Given the description of an element on the screen output the (x, y) to click on. 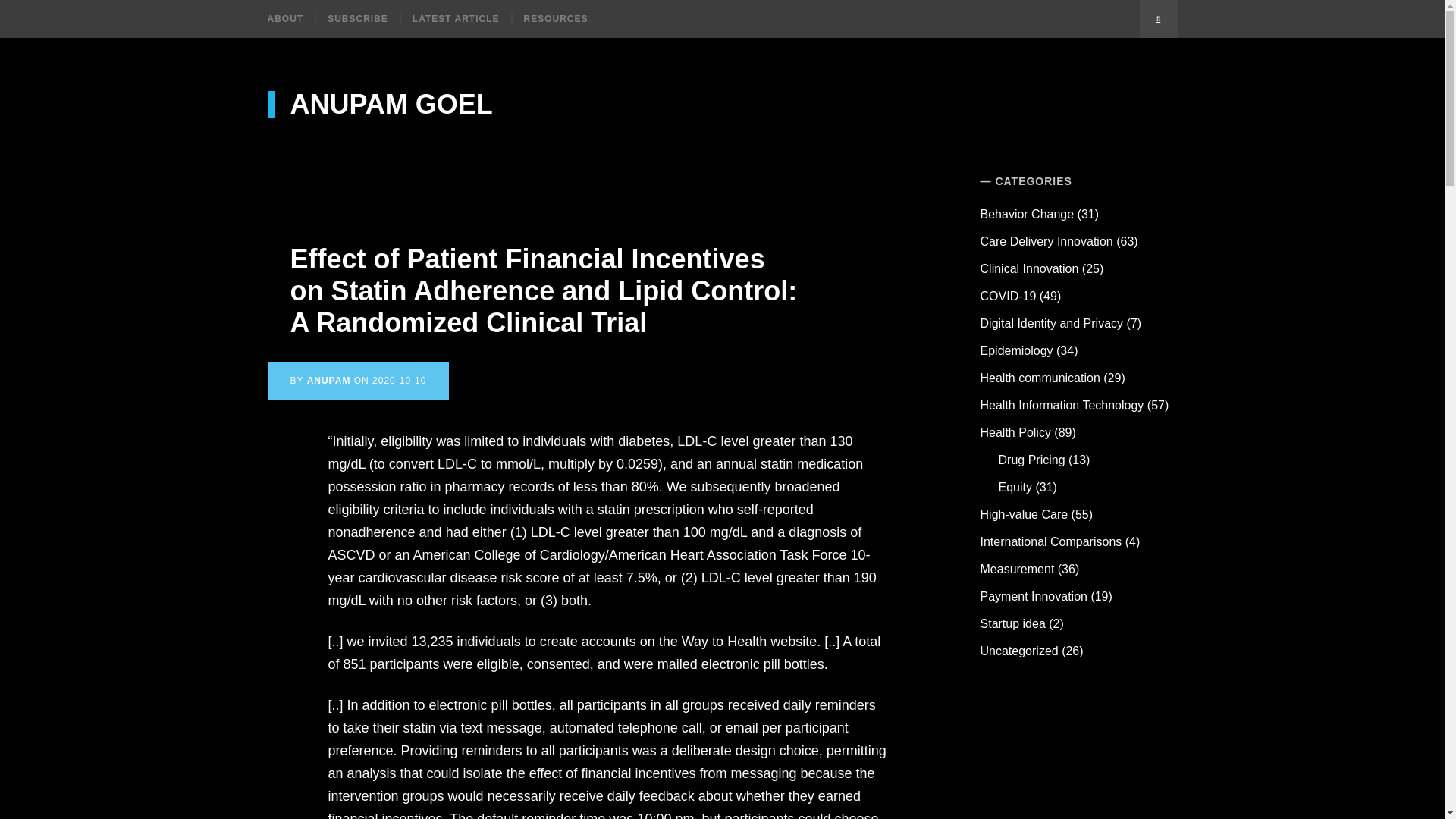
Drug Pricing (1031, 459)
Clinical Innovation (1028, 268)
RESOURCES (555, 18)
Health communication (1039, 377)
Uncategorized (1018, 650)
Measurement (1016, 568)
Equity (1015, 486)
High-value Care (1023, 513)
LATEST ARTICLE (454, 18)
ANUPAM (328, 380)
Search (1157, 18)
ABOUT (290, 18)
International Comparisons (1050, 541)
SUBSCRIBE (356, 18)
Behavior Change (1026, 214)
